Given the description of an element on the screen output the (x, y) to click on. 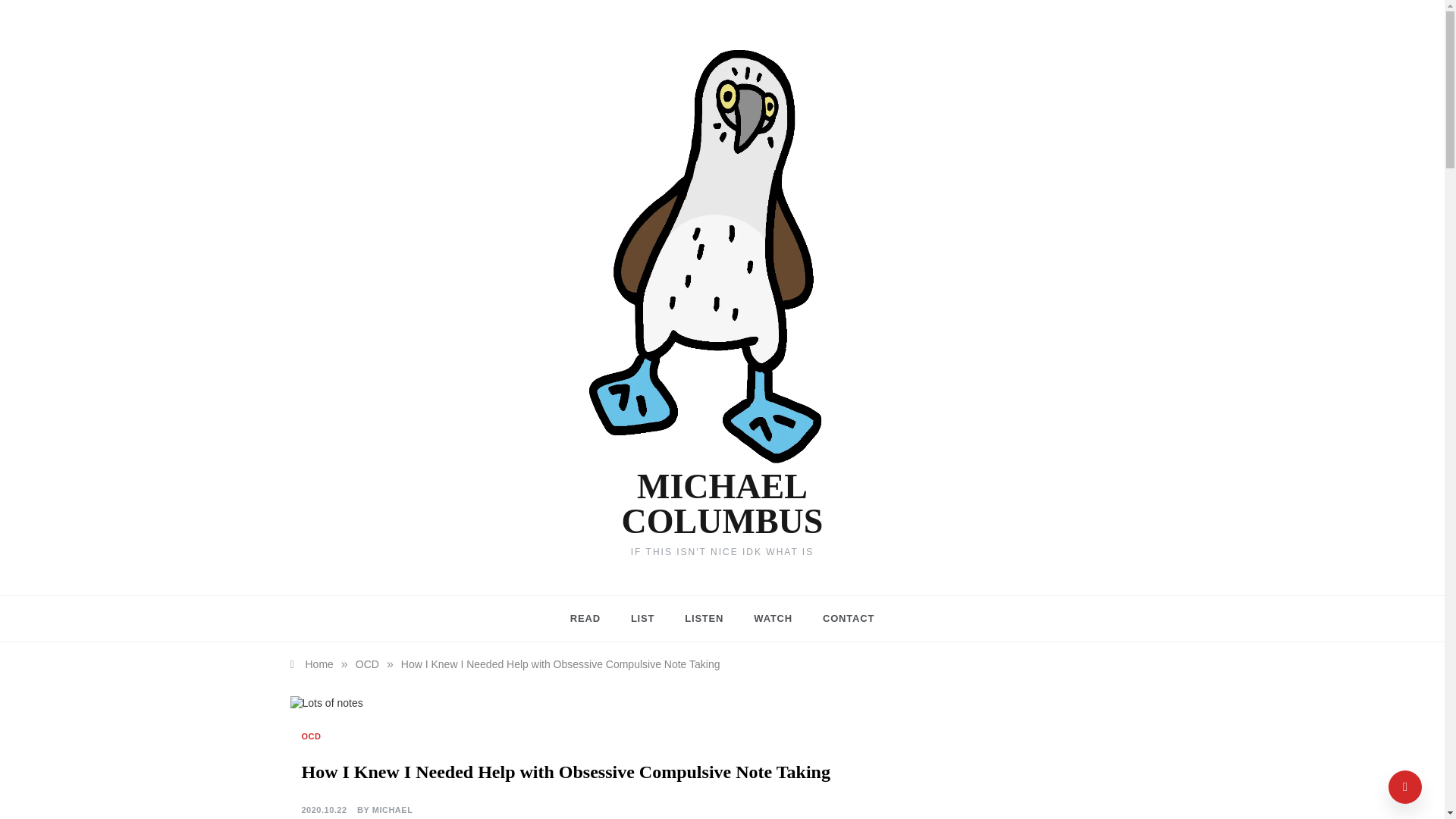
OCD (366, 664)
READ (592, 618)
LIST (642, 618)
CONTACT (841, 618)
2020.10.22 (324, 810)
MICHAEL (392, 810)
Go to Top (1405, 786)
WATCH (773, 618)
Home (311, 664)
